Given the description of an element on the screen output the (x, y) to click on. 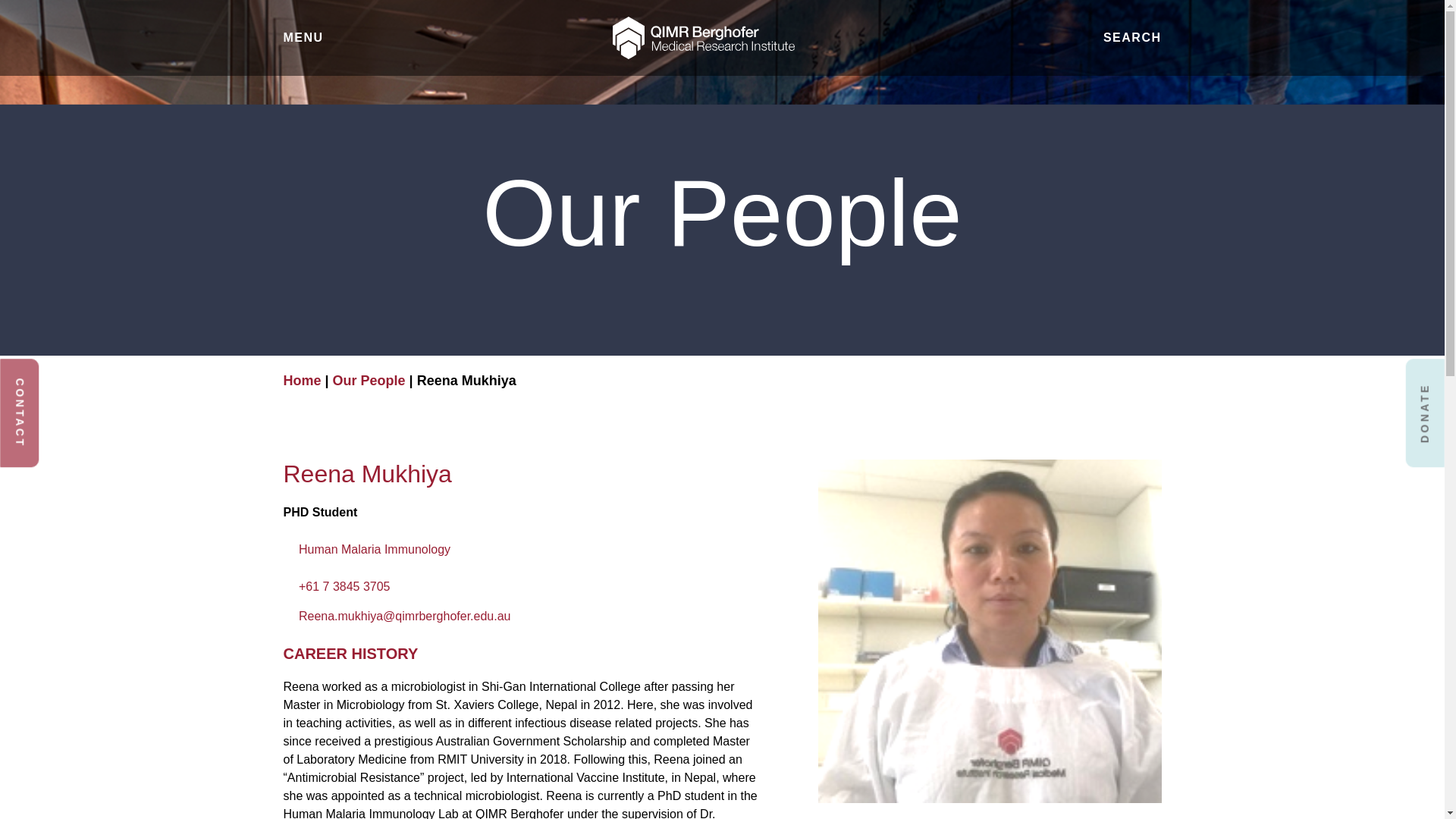
MENU (303, 37)
